Given the description of an element on the screen output the (x, y) to click on. 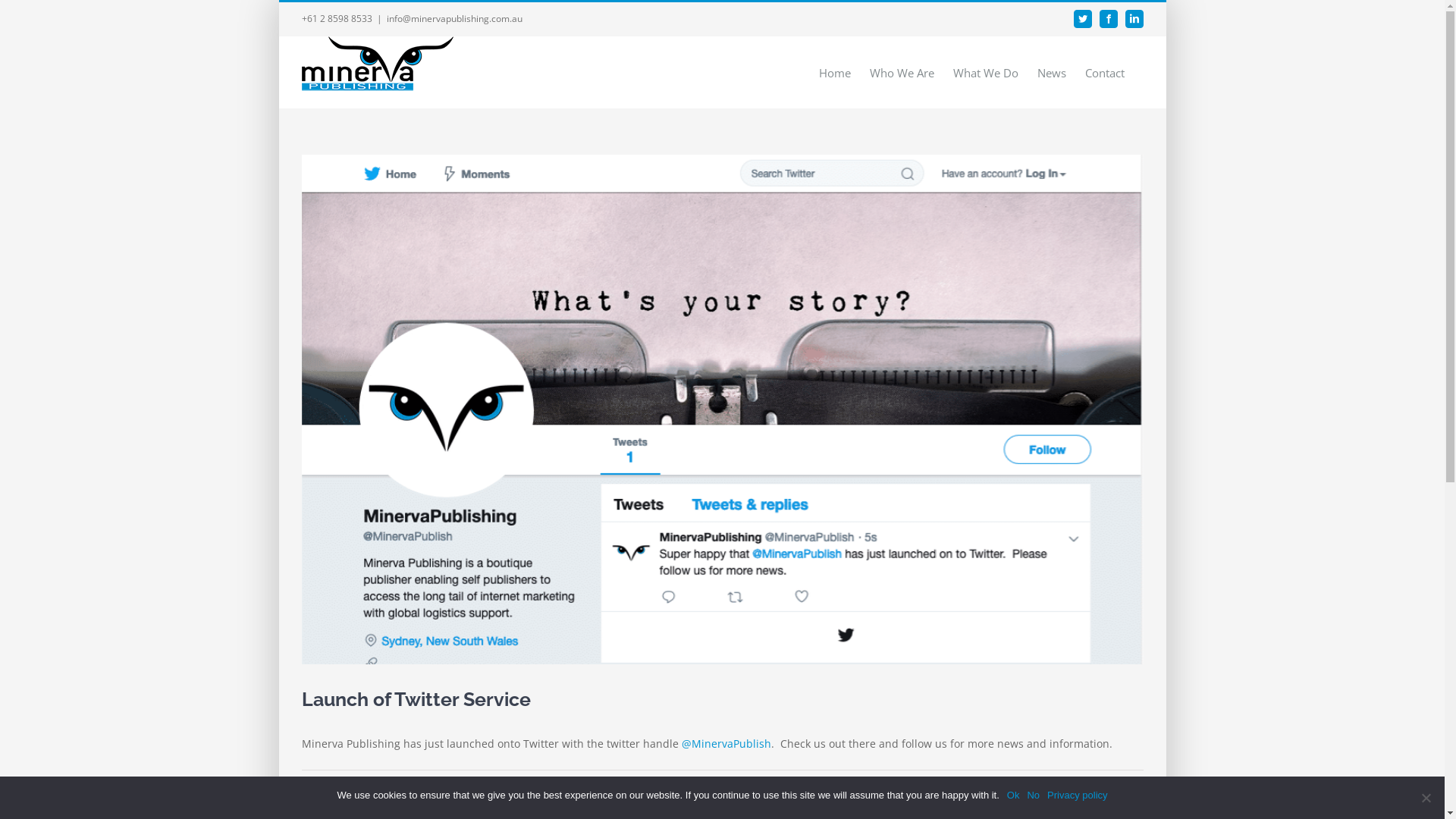
LinkedIn Element type: text (1134, 18)
Peter Brady Element type: text (338, 782)
General Information Element type: text (500, 782)
Twitter Element type: text (1082, 18)
No Element type: text (1032, 795)
@MinervaPublish Element type: text (725, 743)
No Element type: hover (1425, 797)
Privacy policy Element type: text (1077, 795)
What We Do Element type: text (984, 72)
Who We Are Element type: text (901, 72)
Ok Element type: text (1013, 795)
View Larger Image Element type: text (722, 409)
Facebook Element type: text (1108, 18)
Home Element type: text (834, 72)
News Element type: text (1051, 72)
Contact Element type: text (1103, 72)
info@minervapublishing.com.au Element type: text (454, 18)
